Given the description of an element on the screen output the (x, y) to click on. 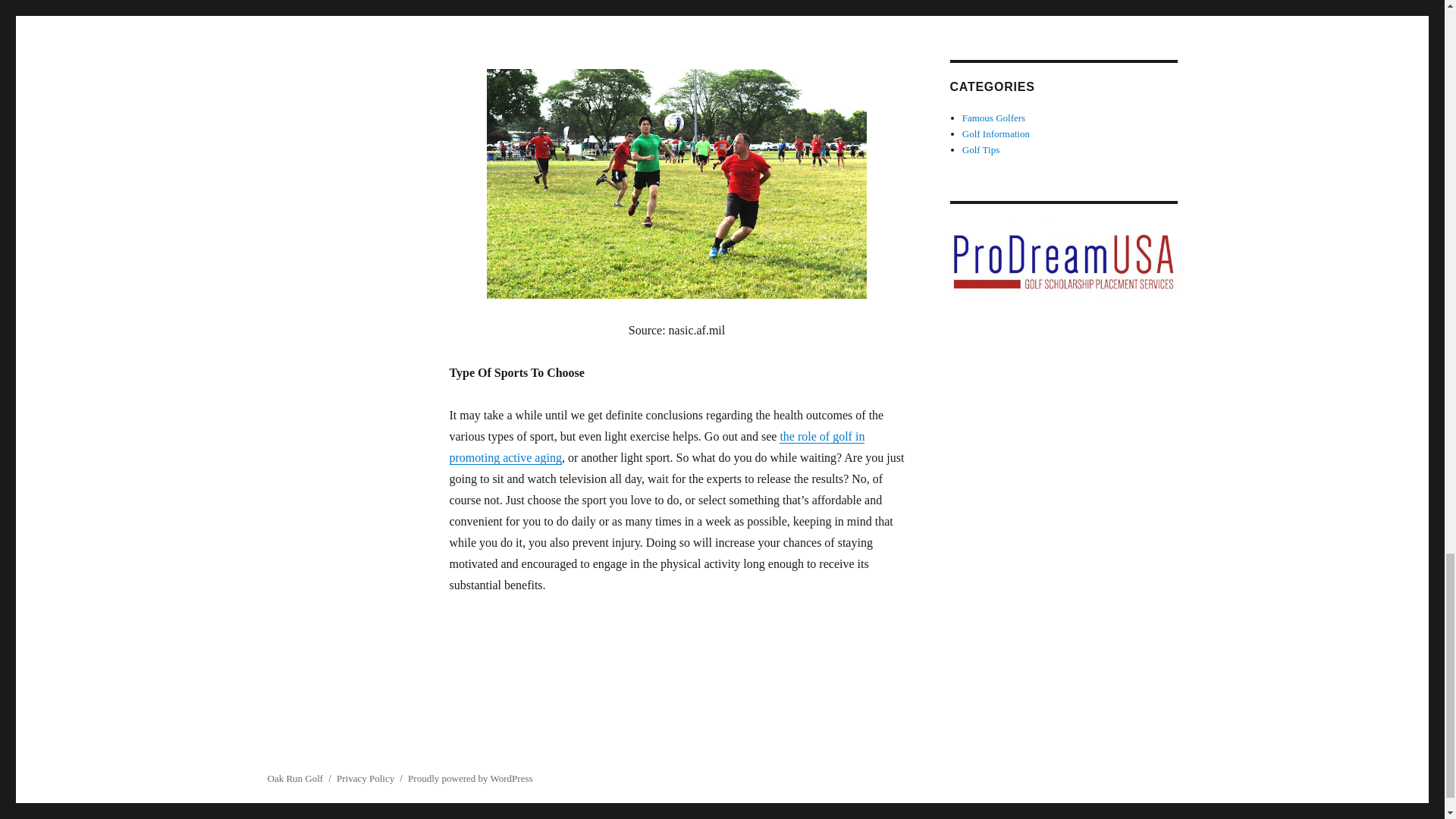
the role of golf in promoting active aging (656, 446)
